Given the description of an element on the screen output the (x, y) to click on. 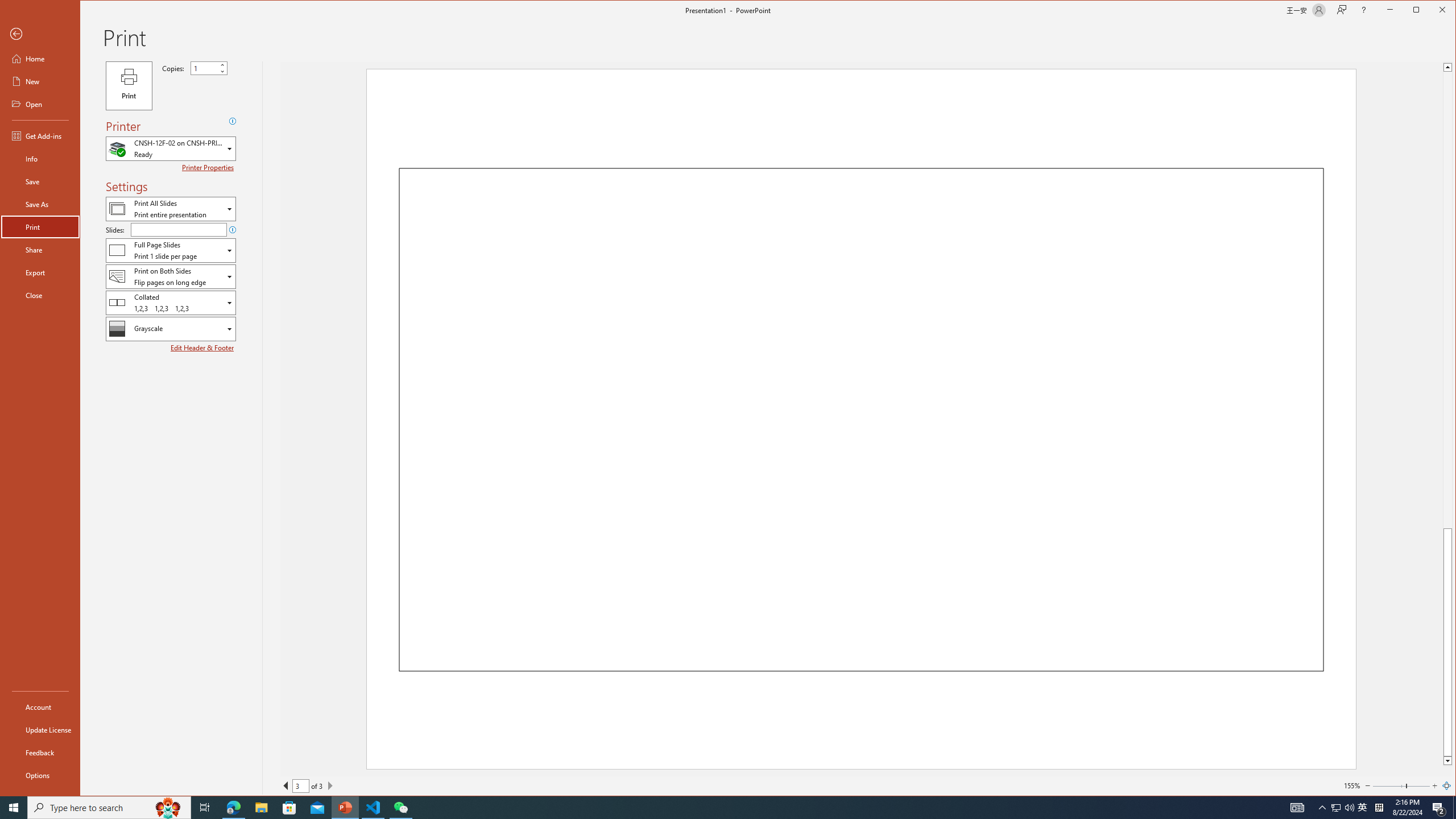
Next Page (329, 785)
Which Printer (170, 148)
